Given the description of an element on the screen output the (x, y) to click on. 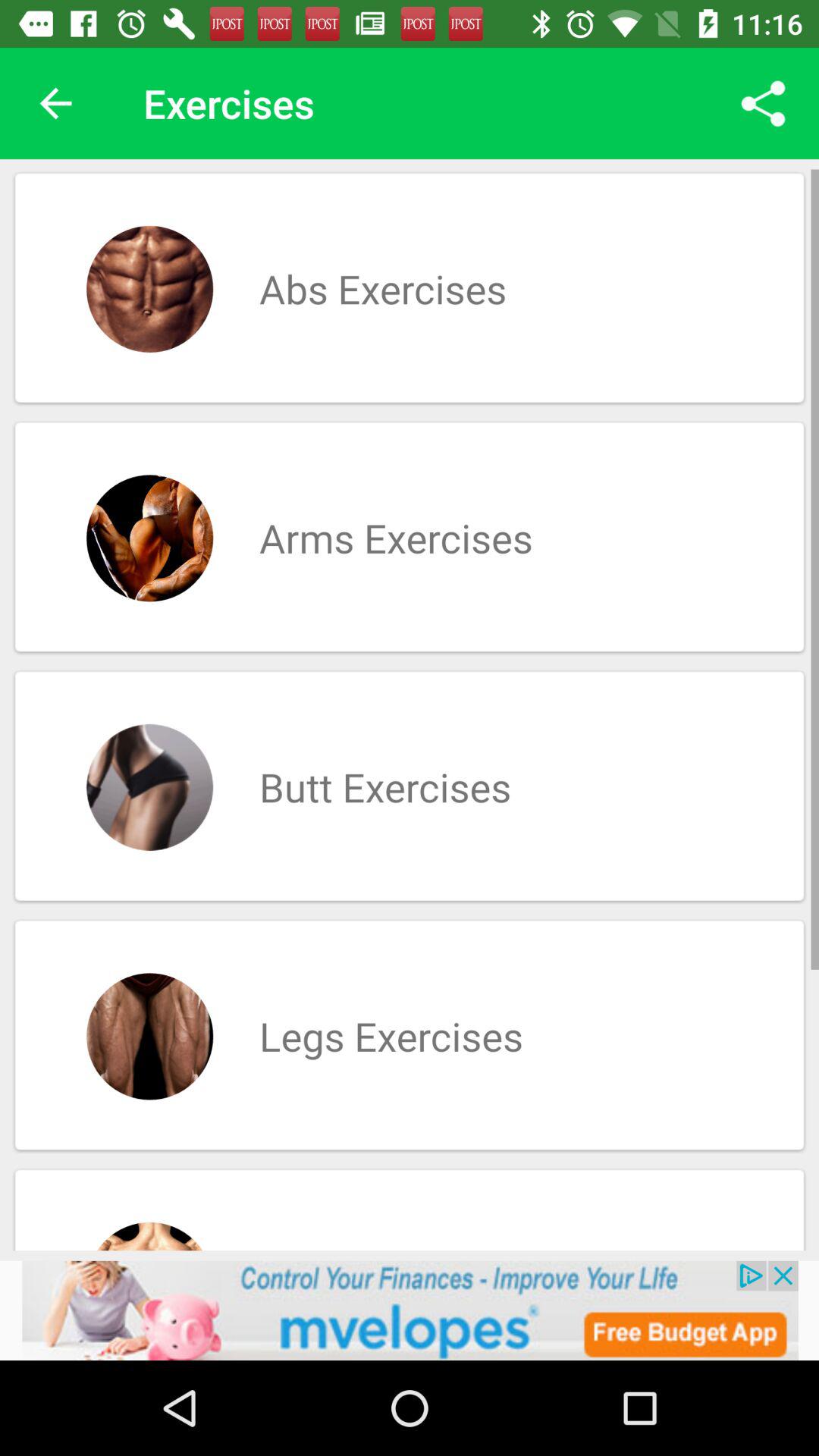
know about the advertisement (409, 1310)
